Given the description of an element on the screen output the (x, y) to click on. 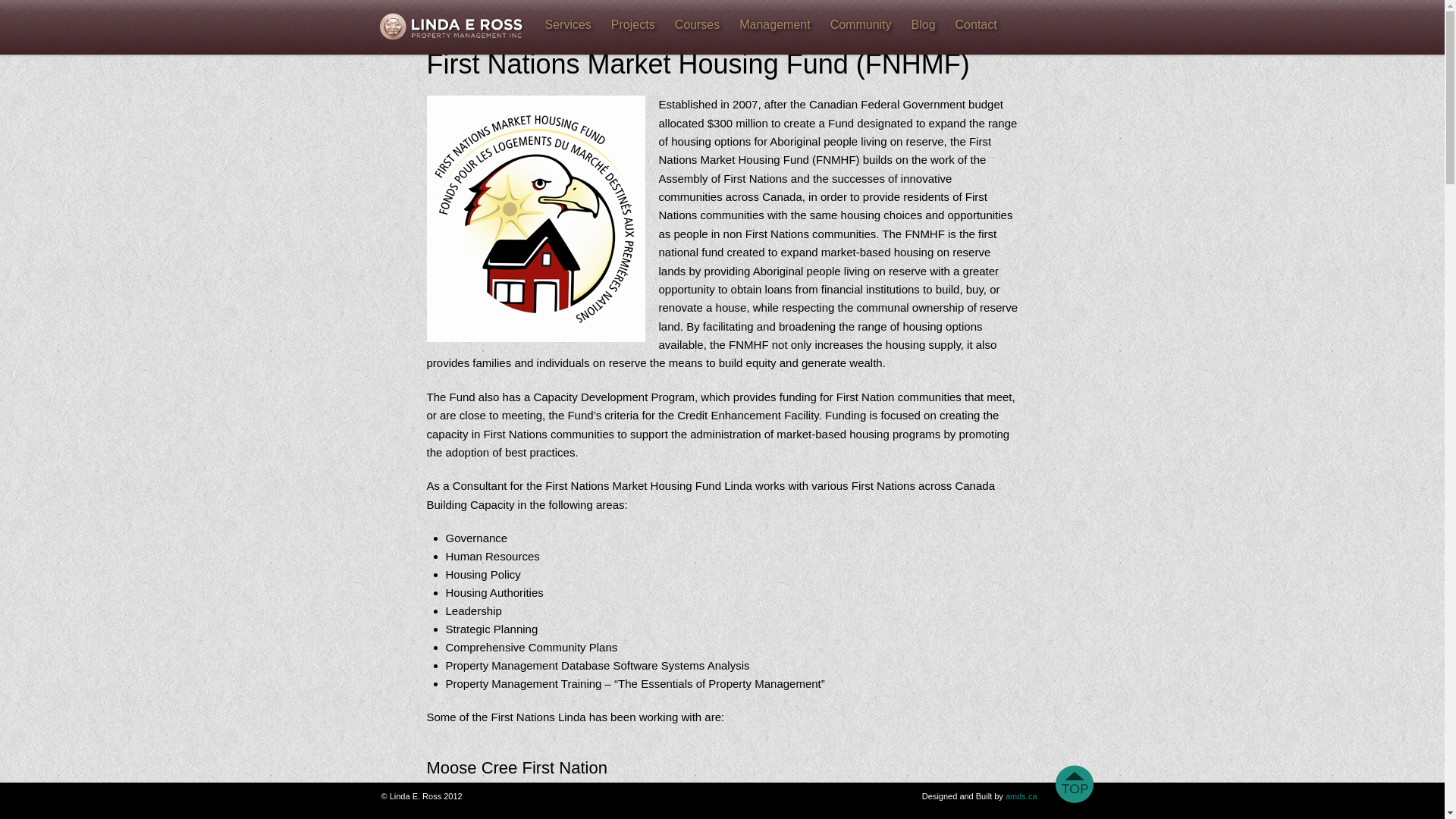
Community (860, 24)
Services (567, 24)
Contact (975, 24)
Blog (923, 24)
amds.ca (1021, 795)
Management (774, 24)
Projects (633, 24)
Courses (697, 24)
